Given the description of an element on the screen output the (x, y) to click on. 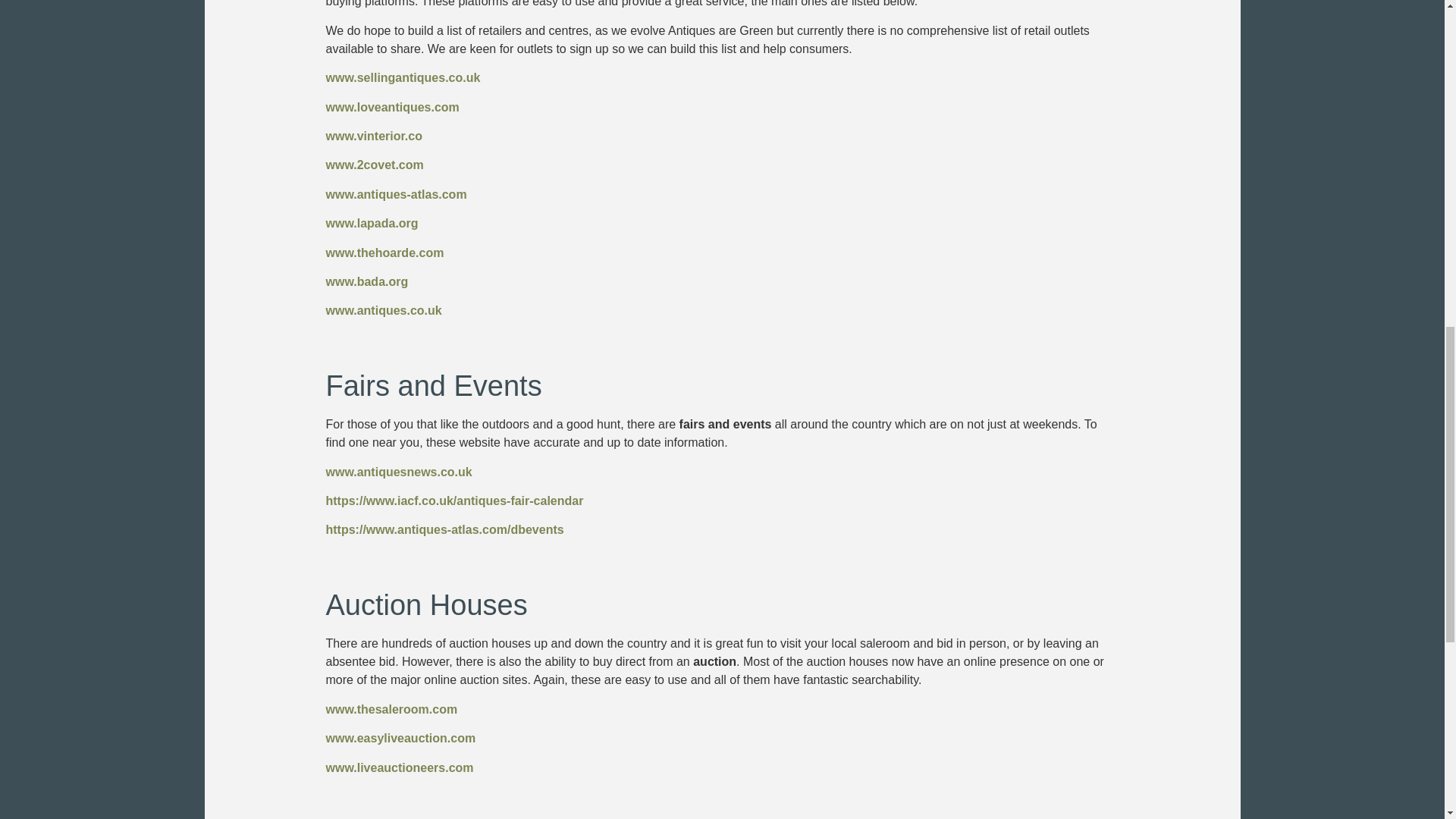
www.easyliveauction.com (401, 738)
www.thesaleroom.com (392, 708)
www.antiquesnews.co.uk (398, 472)
www.loveantiques.com (393, 106)
www.liveauctioneers.com (400, 767)
www.thehoarde.com (385, 252)
www.antiques-atlas.com (396, 194)
www.sellingantiques.co.uk (403, 77)
www.lapada.org (372, 223)
www.vinterior.co (374, 135)
www.antiques.co.uk (384, 309)
www.bada.org (367, 281)
www.2covet.com (374, 164)
